Given the description of an element on the screen output the (x, y) to click on. 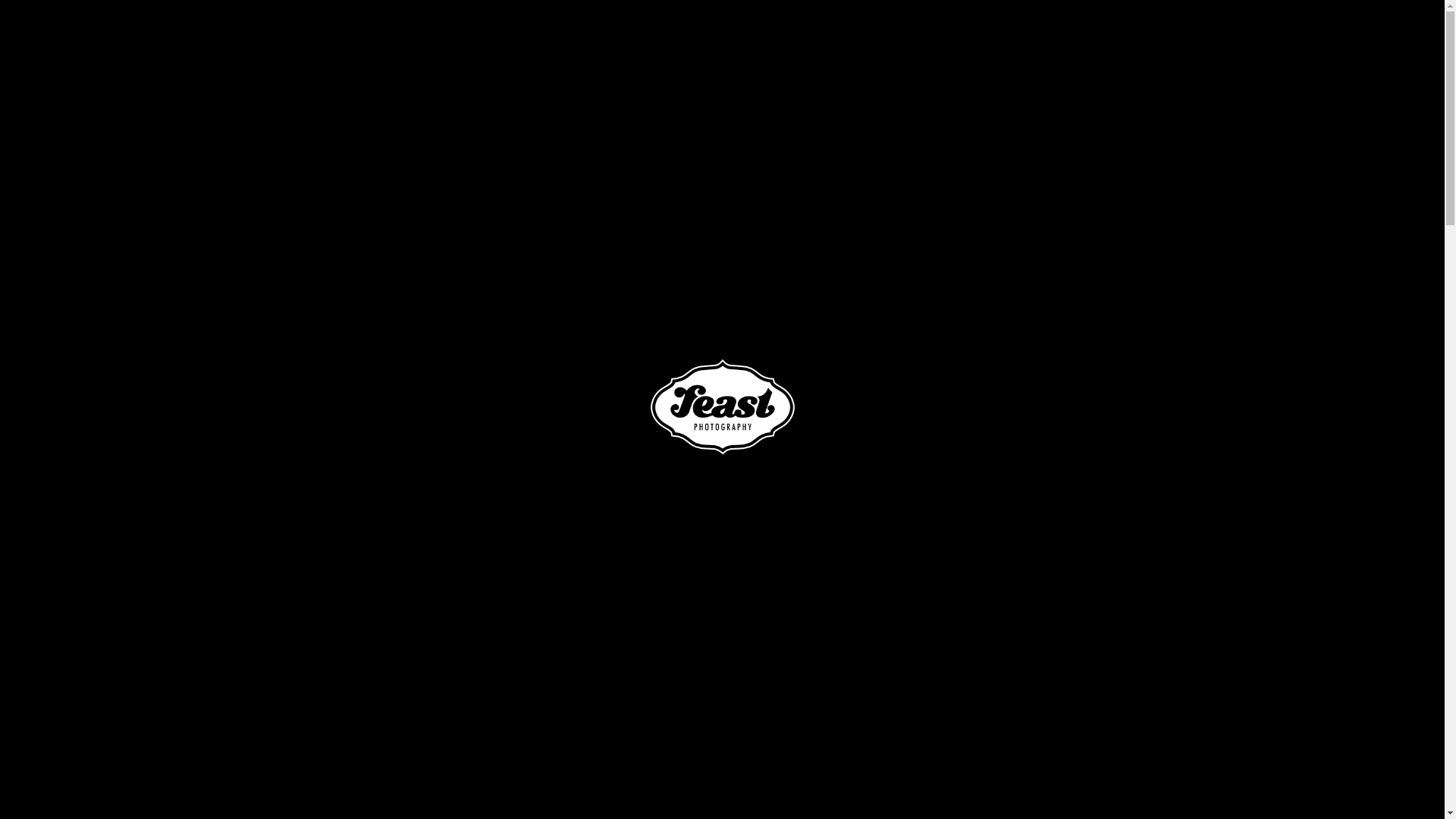
BLOG Element type: text (1272, 37)
ABOUT Element type: text (945, 37)
CONTACT Element type: text (1342, 37)
CASE STUDIES Element type: text (1126, 37)
